Given the description of an element on the screen output the (x, y) to click on. 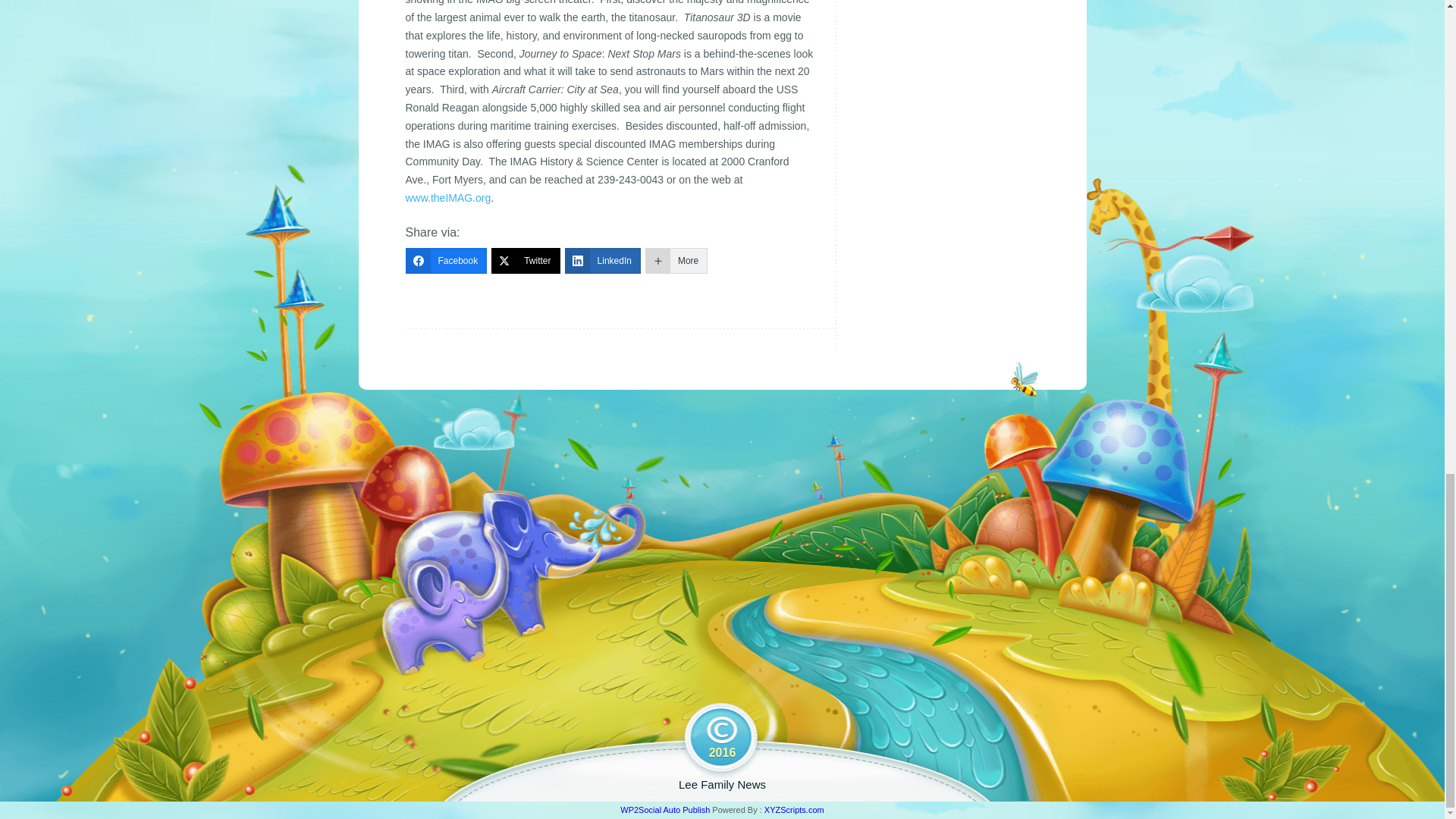
www.theIMAG.org (447, 197)
More (676, 260)
WP2Social Auto Publish (665, 809)
LinkedIn (602, 260)
Facebook (445, 260)
XYZScripts.com (794, 809)
Twitter (525, 260)
WP2Social Auto Publish (665, 809)
